Given the description of an element on the screen output the (x, y) to click on. 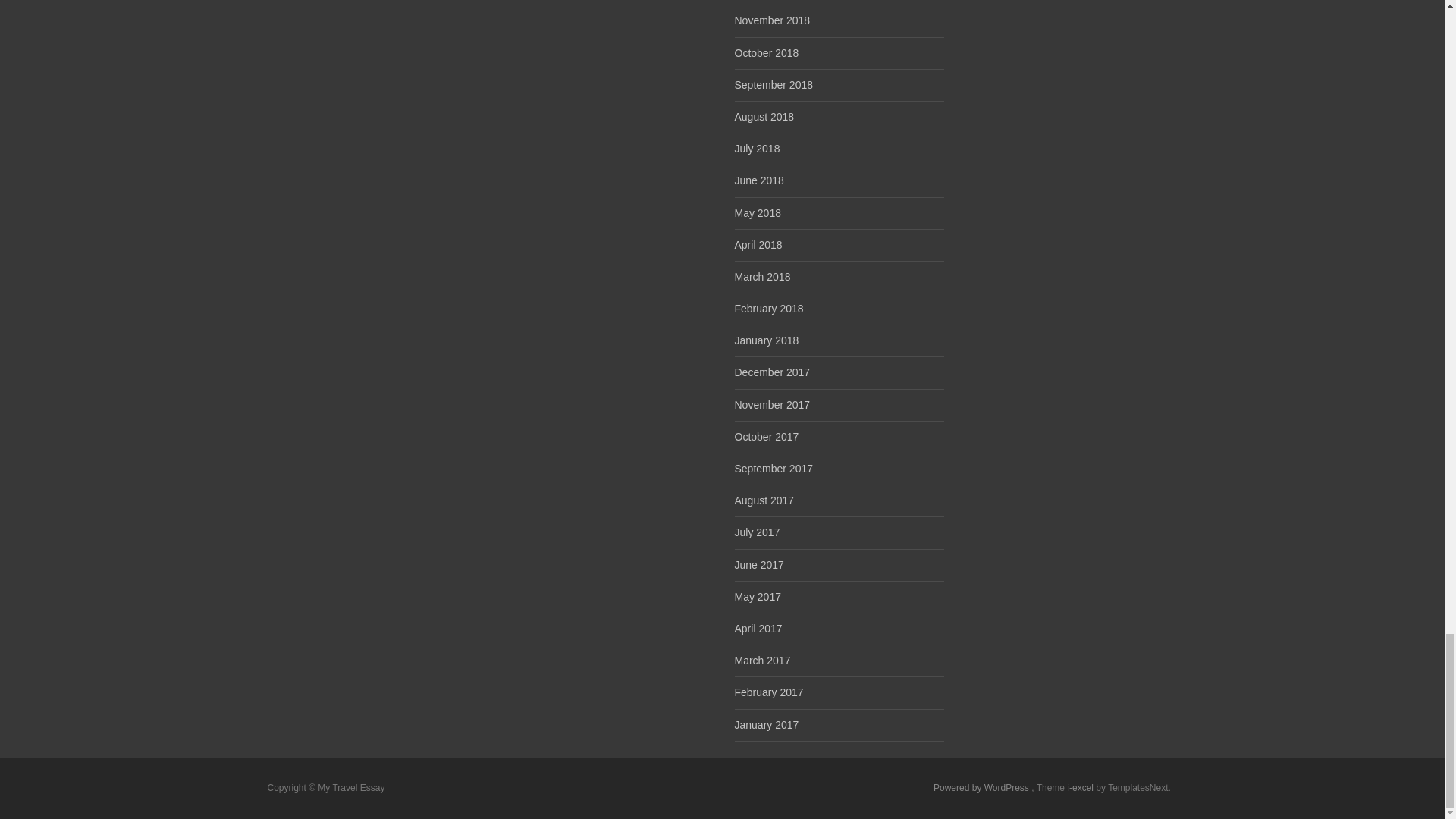
Semantic Personal Publishing Platform (981, 787)
